Given the description of an element on the screen output the (x, y) to click on. 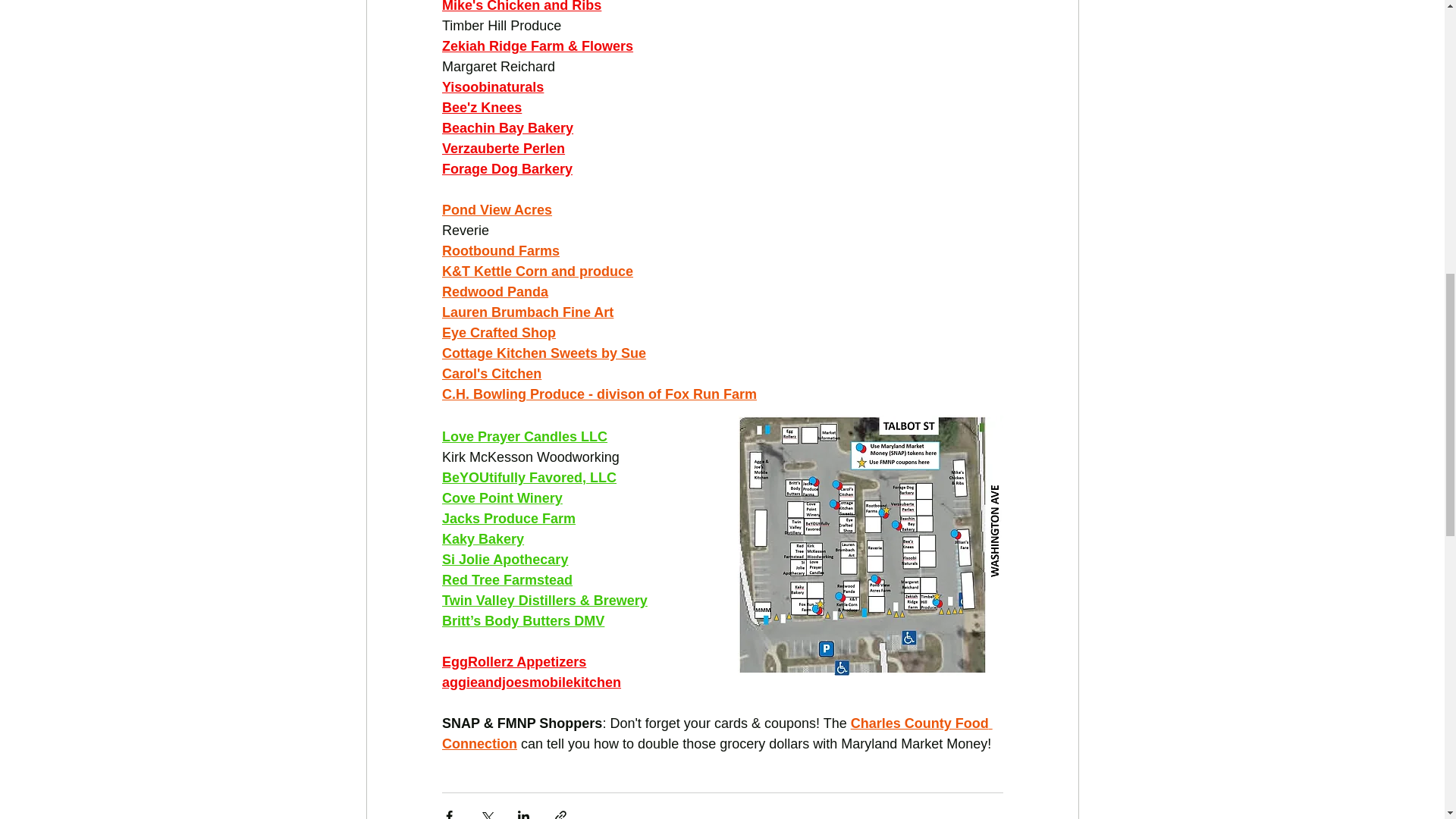
Mike's Chicken and Ribs (520, 6)
Verzauberte Perlen (502, 148)
Beachin Bay Bakery (506, 127)
Forage Dog Barkery (506, 168)
Yisoobinaturals (492, 87)
